Given the description of an element on the screen output the (x, y) to click on. 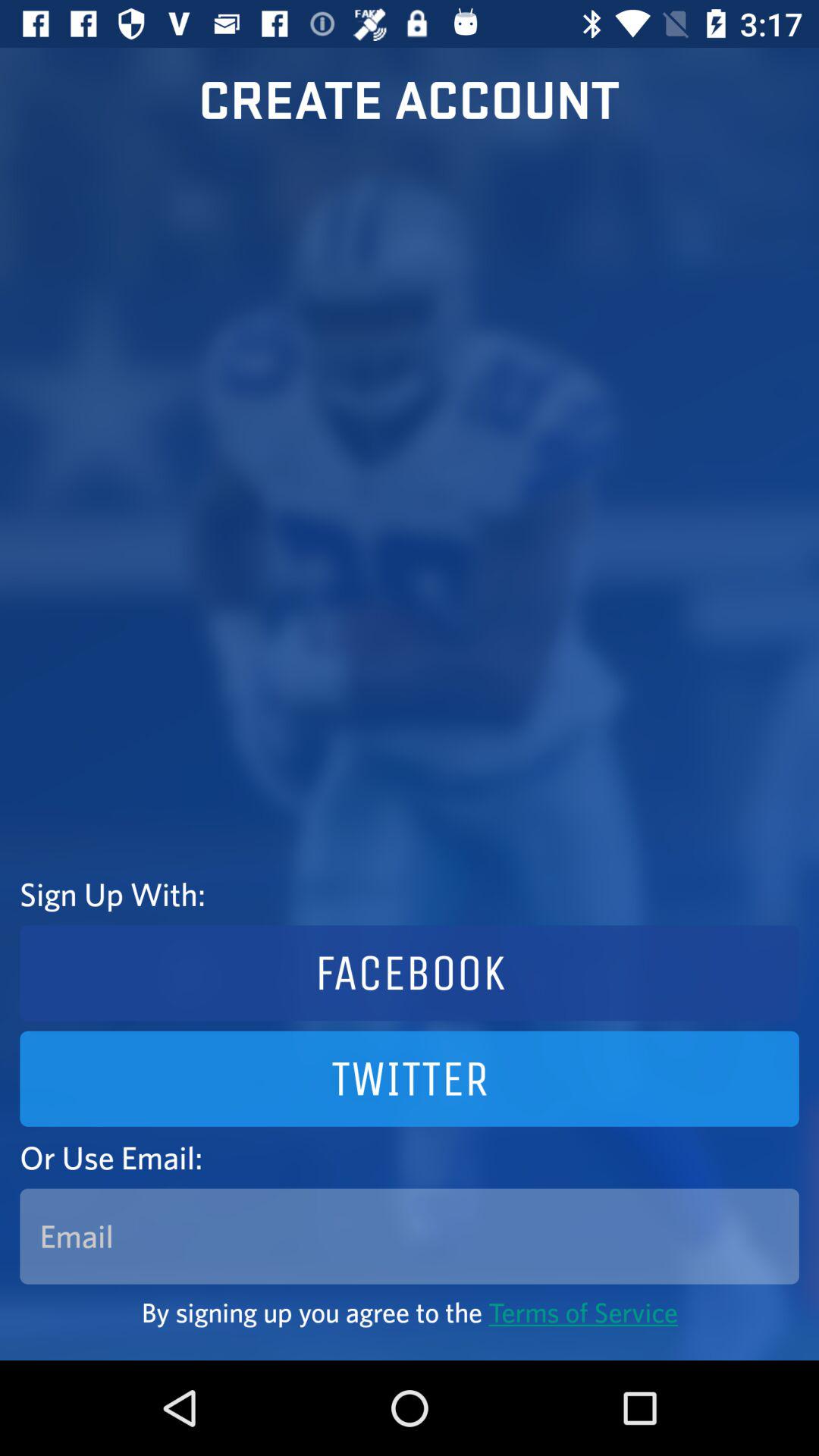
click twitter item (409, 1078)
